Given the description of an element on the screen output the (x, y) to click on. 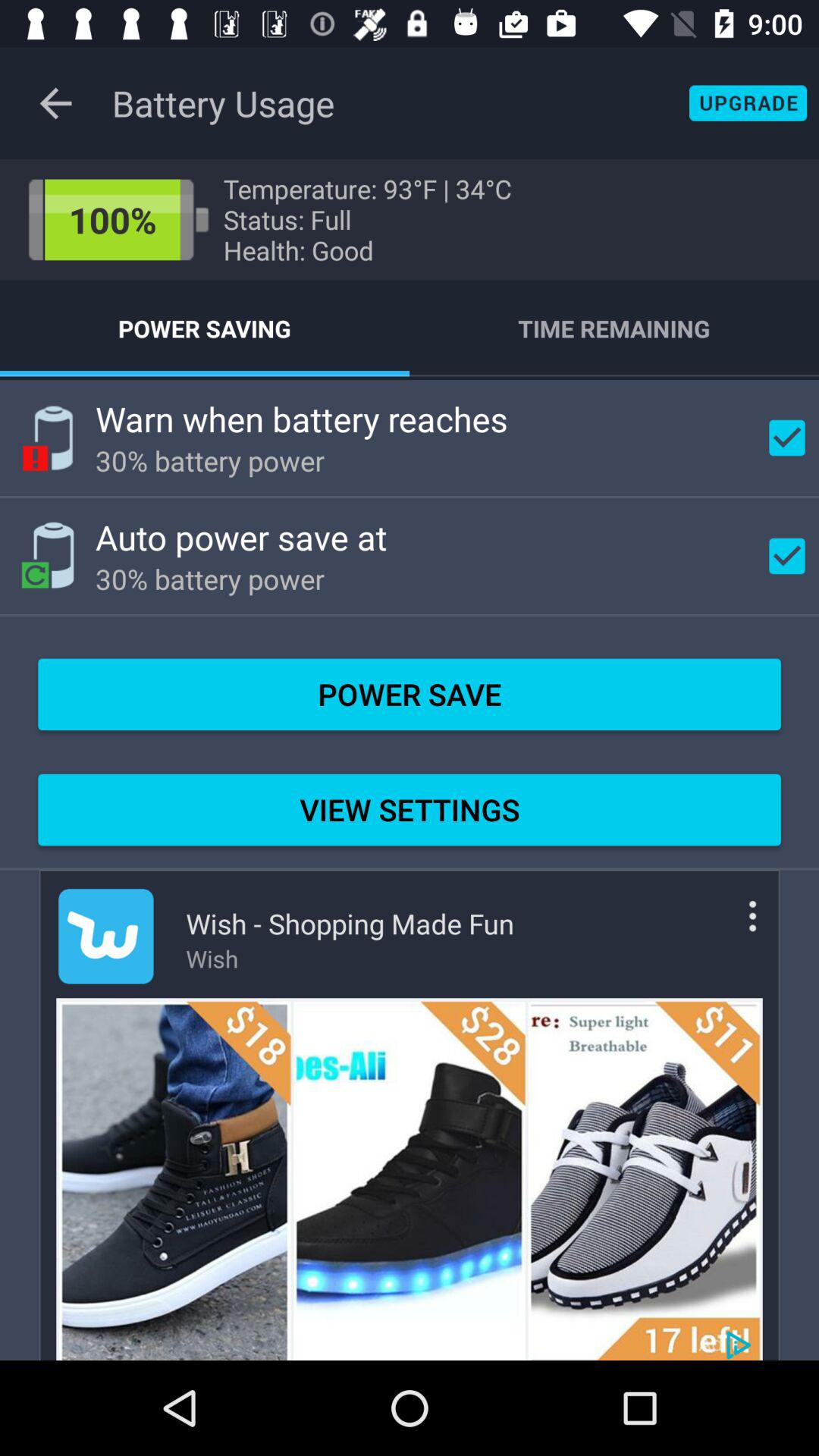
upgrade (748, 103)
